Given the description of an element on the screen output the (x, y) to click on. 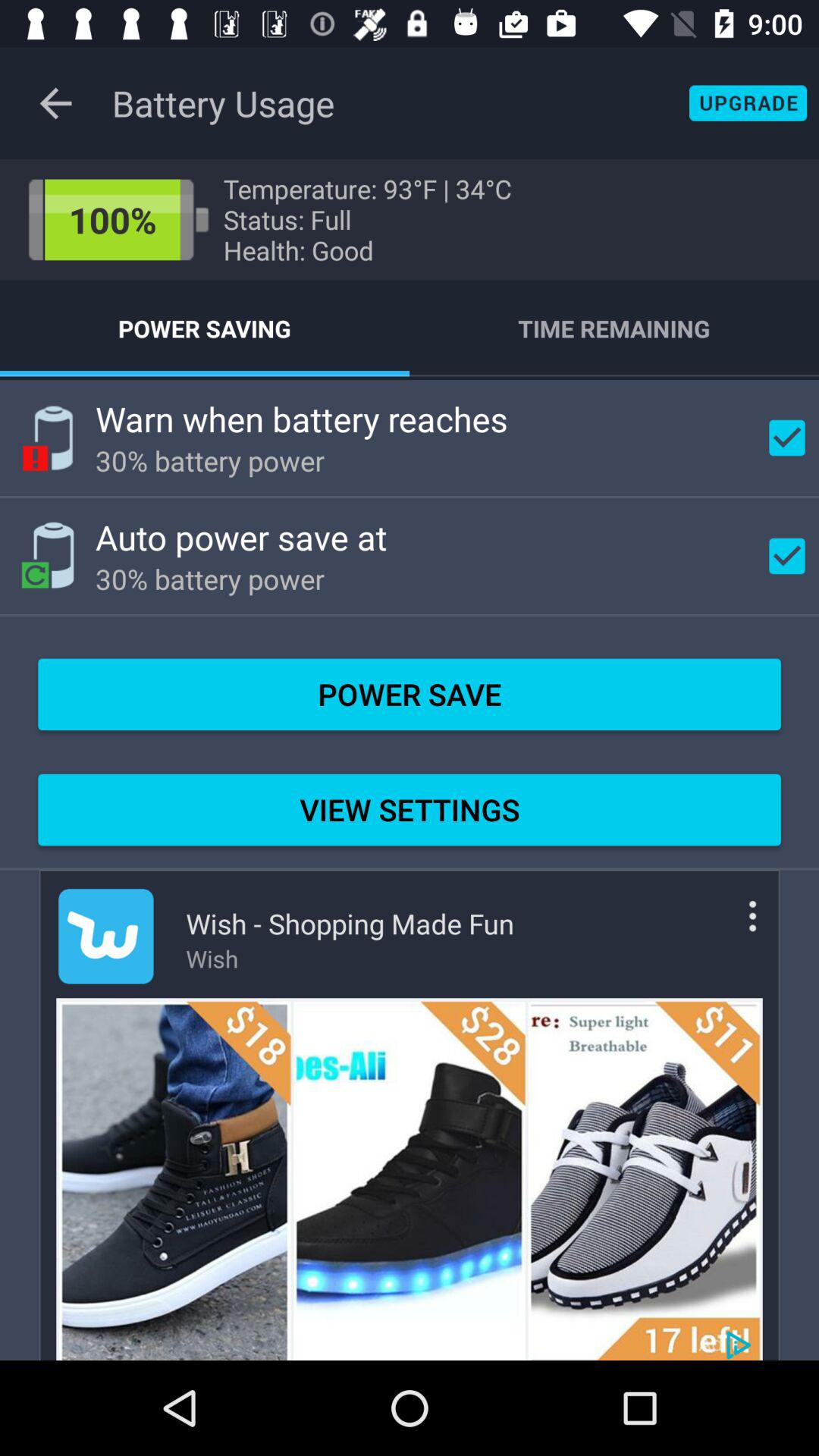
upgrade (748, 103)
